Given the description of an element on the screen output the (x, y) to click on. 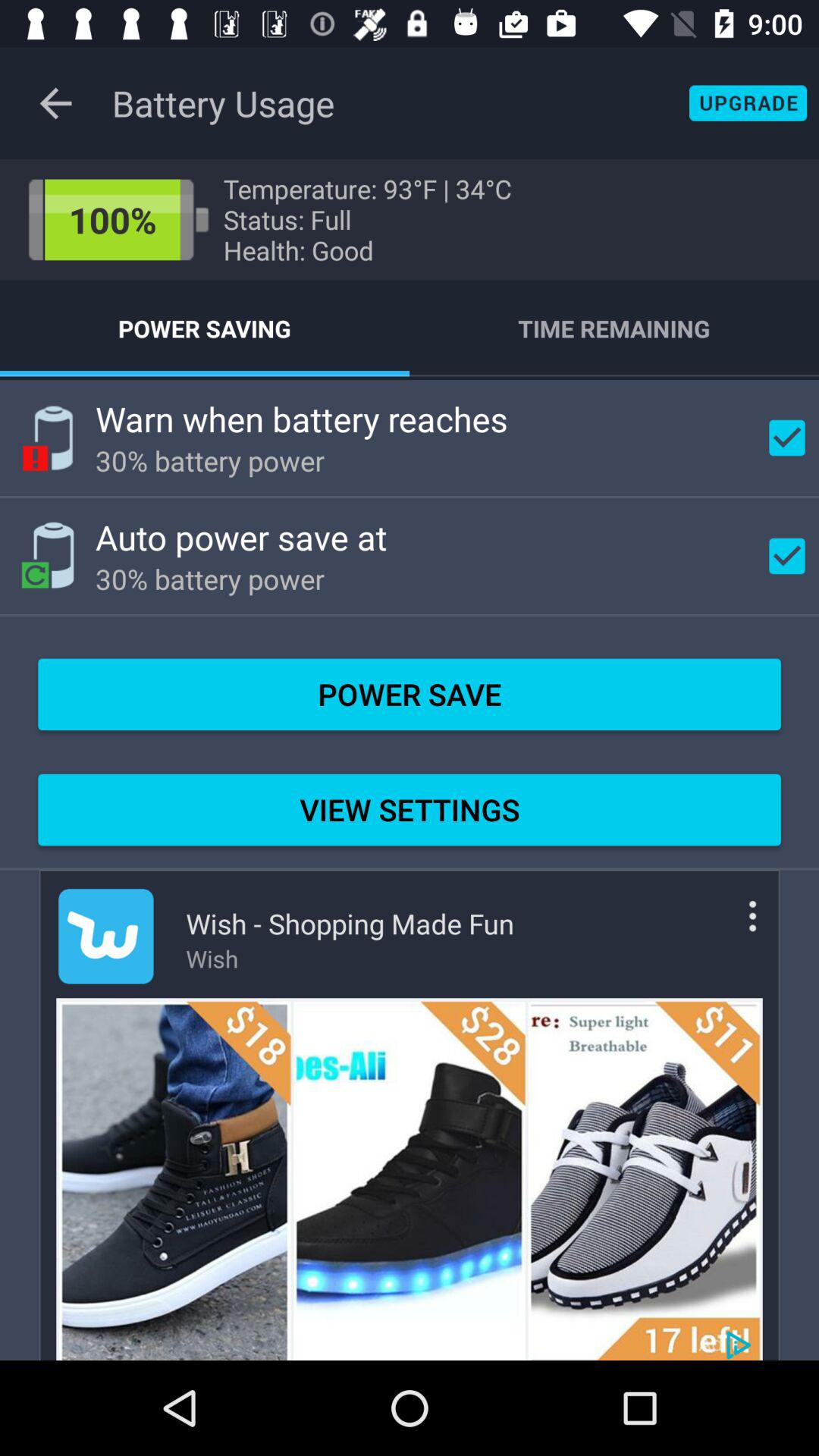
upgrade (748, 103)
